Given the description of an element on the screen output the (x, y) to click on. 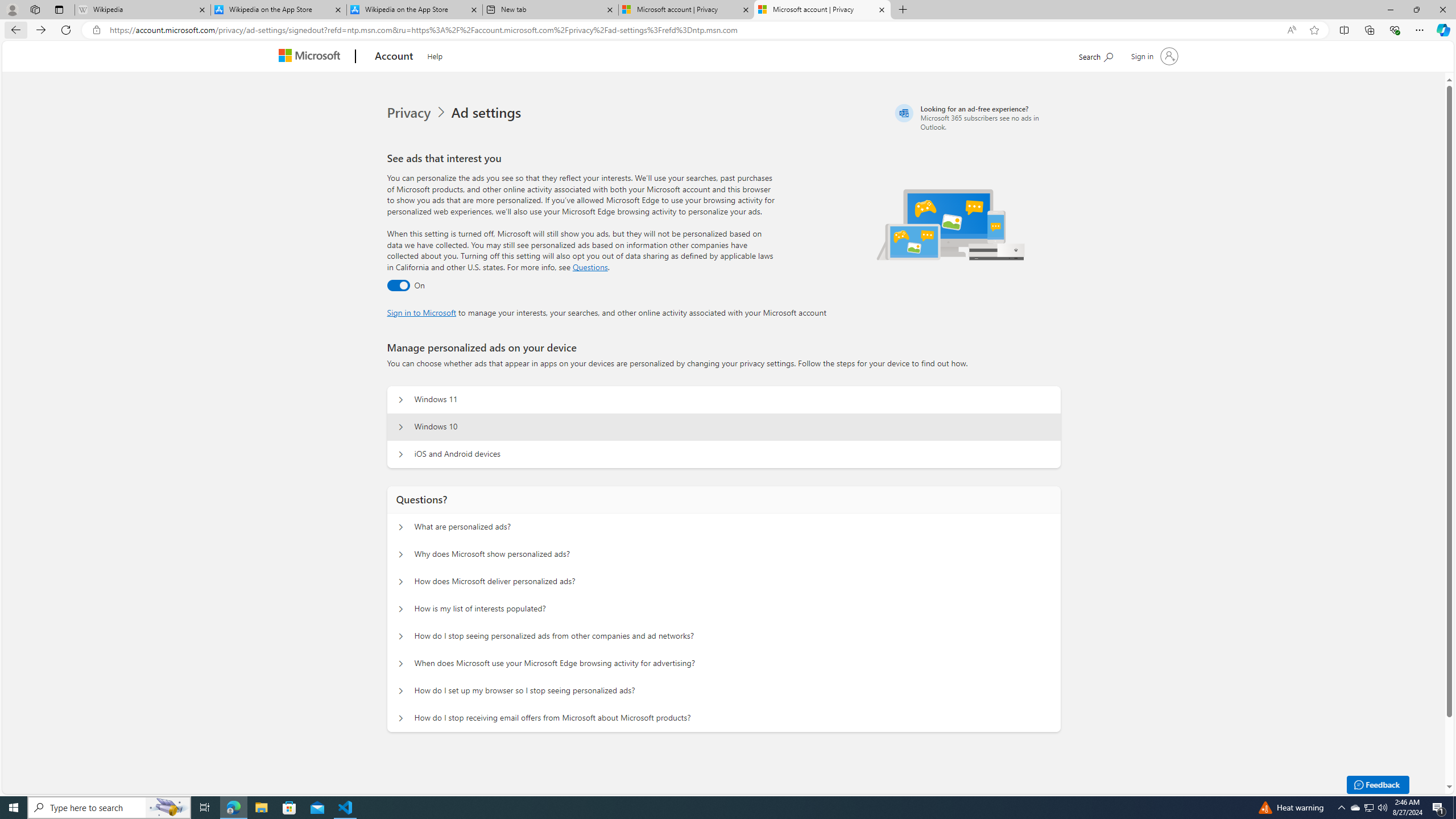
Help (434, 54)
Sign in to your account (1153, 55)
Settings and more (Alt+F) (1419, 29)
Read aloud this page (Ctrl+Shift+U) (1291, 29)
Restore (1416, 9)
Account (394, 56)
Sign in to Microsoft (422, 311)
New tab (550, 9)
Close (1442, 9)
Privacy (418, 112)
Help (435, 54)
Tab actions menu (58, 9)
